Given the description of an element on the screen output the (x, y) to click on. 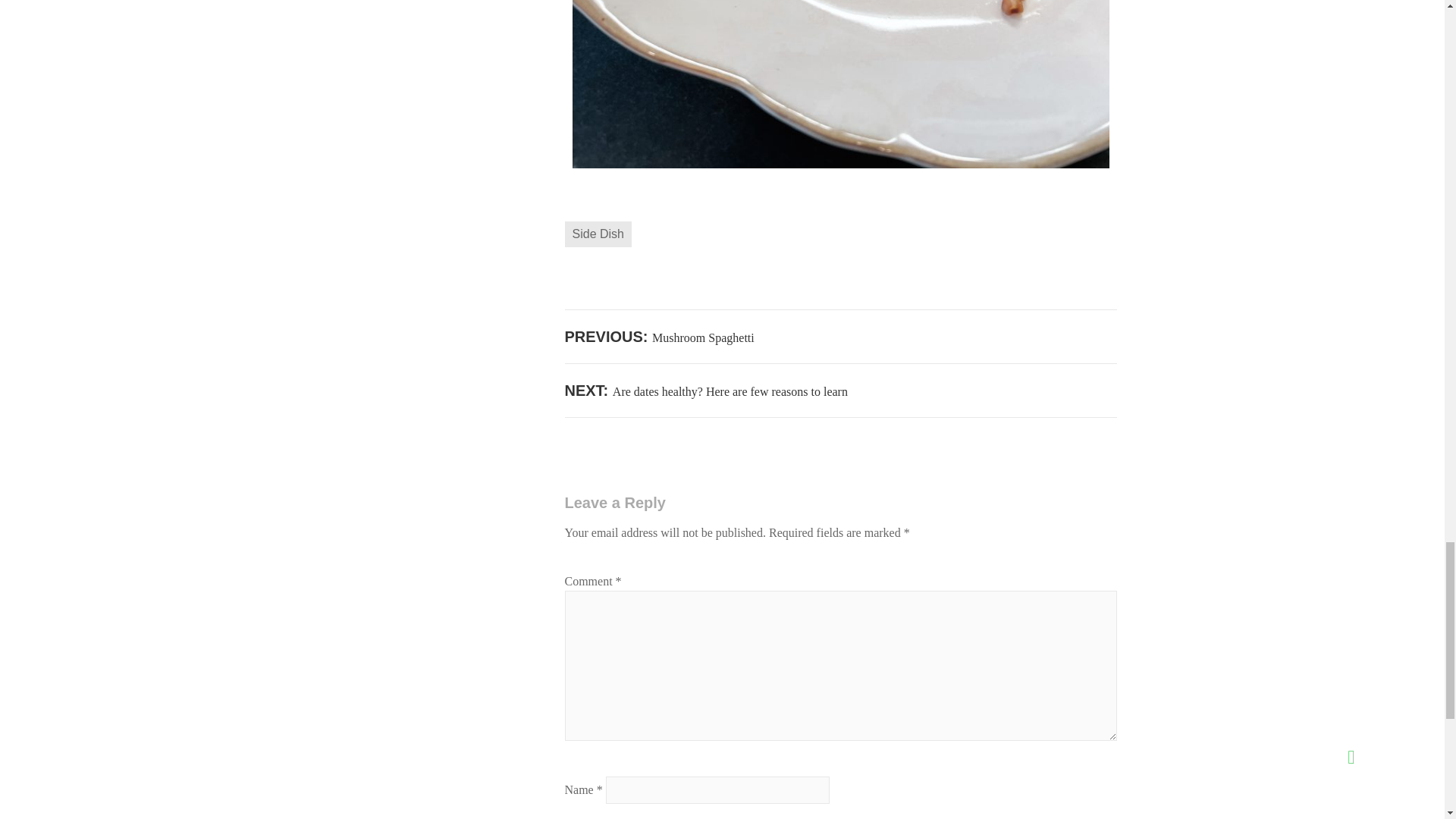
Side Dish (705, 391)
